Given the description of an element on the screen output the (x, y) to click on. 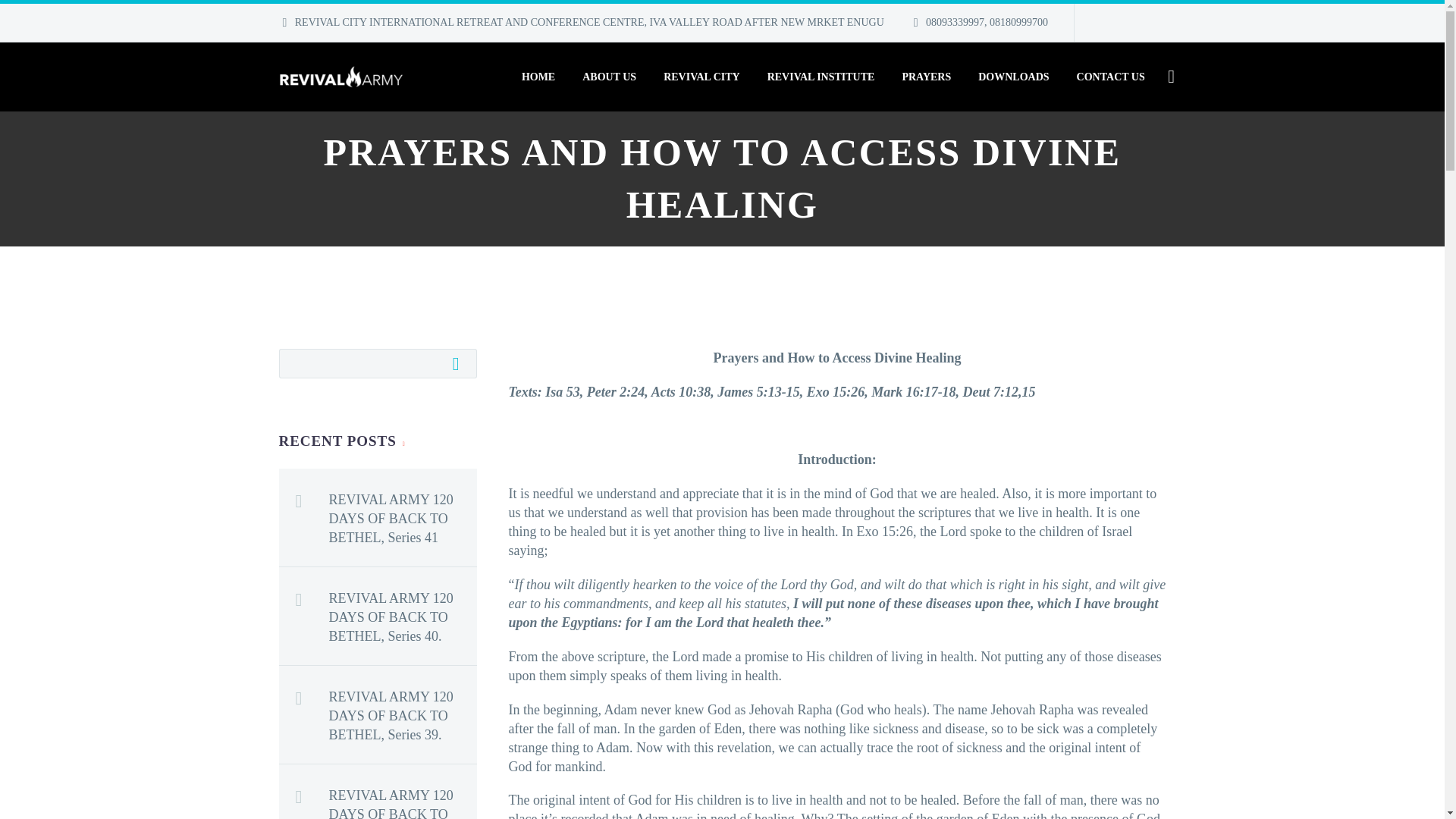
HOME (538, 76)
CONTACT US (1110, 76)
08093339997, 08180999700 (987, 21)
REVIVAL CITY (701, 76)
s (1323, 157)
REVIVAL ARMY 120 DAYS OF BACK TO BETHEL, Series 36 (403, 799)
REVIVAL ARMY 120 DAYS OF BACK TO BETHEL, Series 39. (403, 712)
SEARCH (460, 362)
DOWNLOADS (1012, 76)
REVIVAL ARMY 120 DAYS OF BACK TO BETHEL, Series 40. (403, 614)
